Given the description of an element on the screen output the (x, y) to click on. 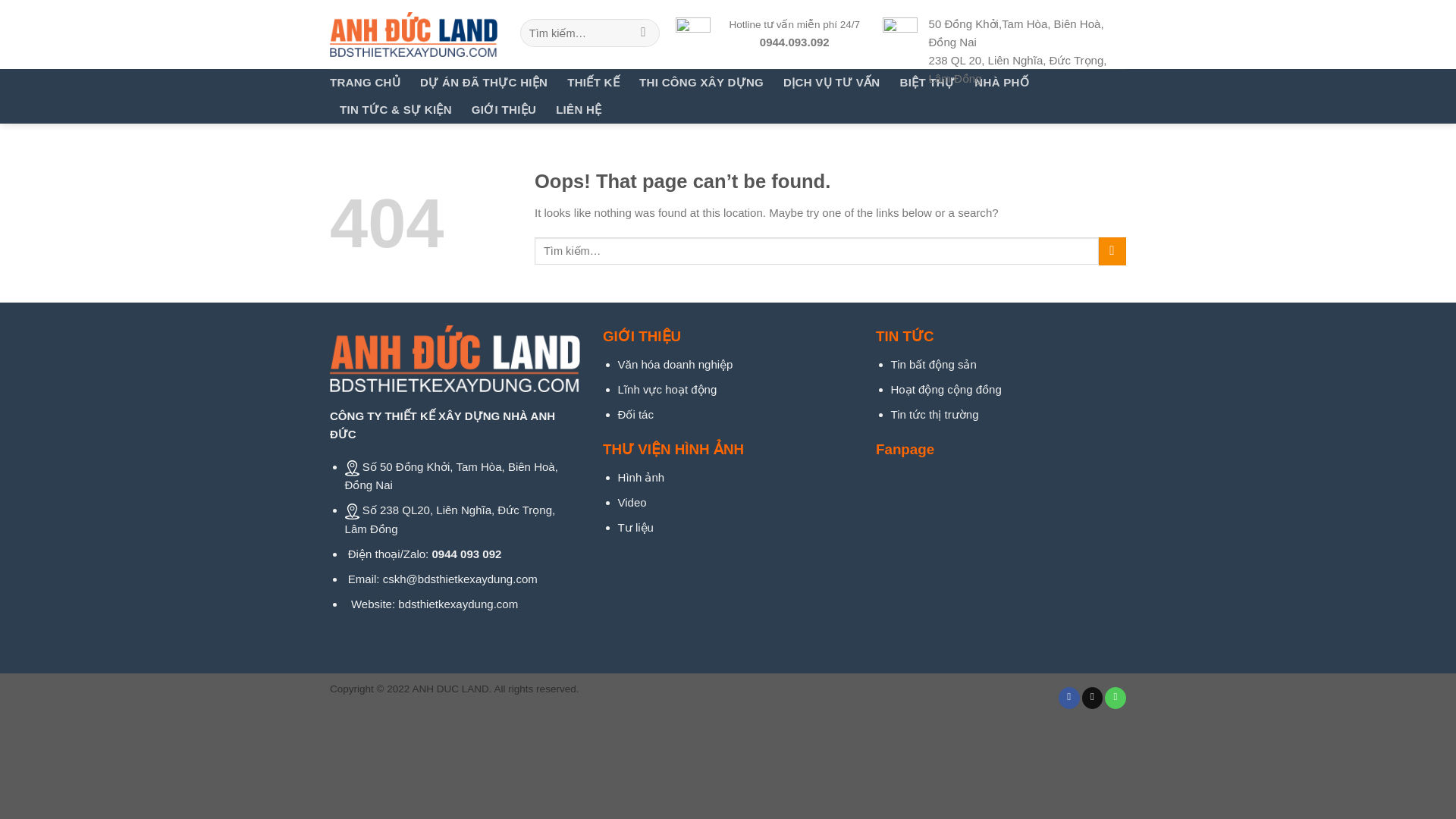
Video (631, 502)
Follow on Facebook (1069, 698)
Send us an email (1092, 698)
Video (631, 502)
Call us (1115, 698)
bdsthietkexaydung.com (457, 603)
